Given the description of an element on the screen output the (x, y) to click on. 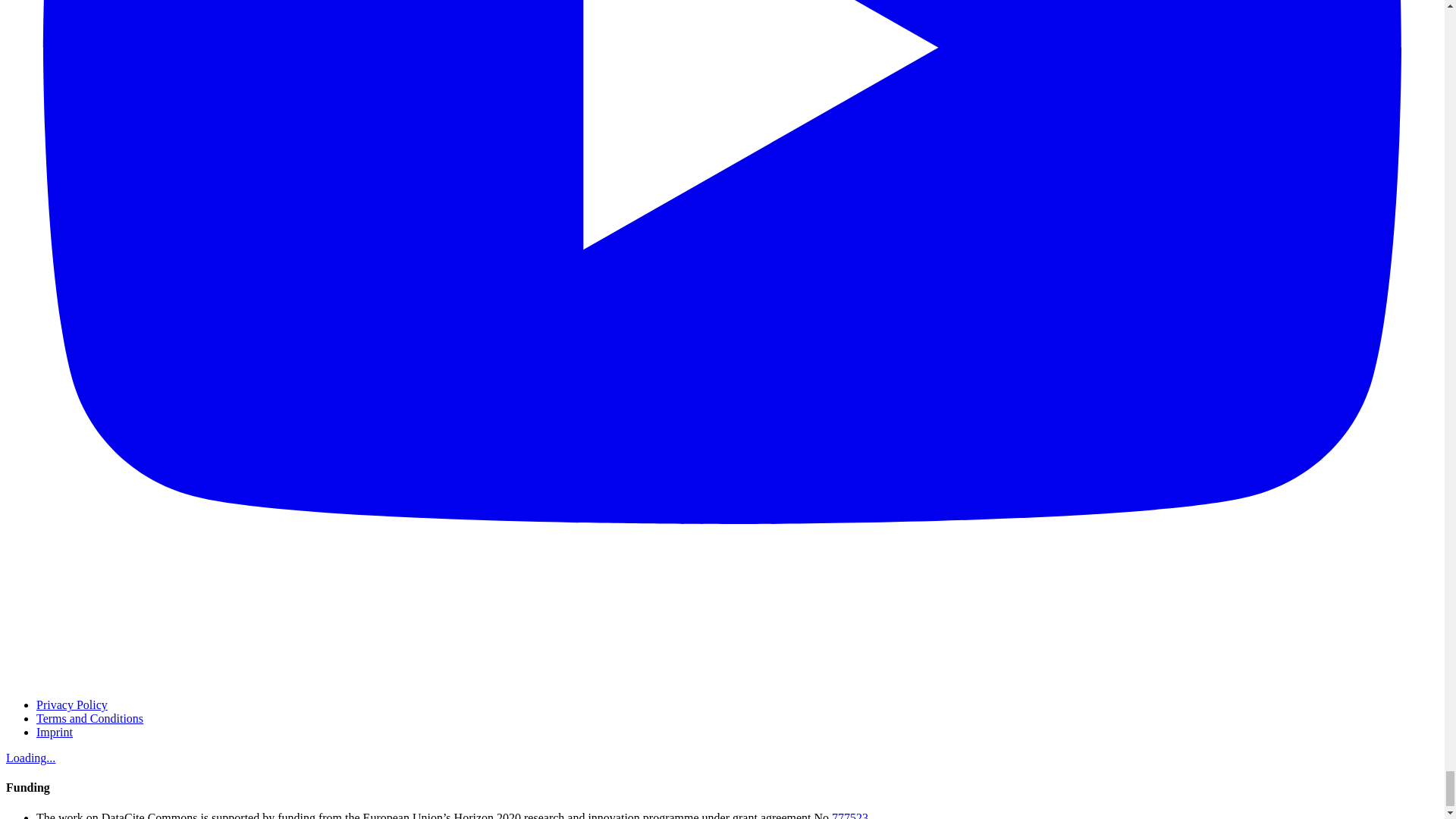
Loading... (30, 757)
Terms and Conditions (89, 717)
Imprint (54, 731)
Privacy Policy (71, 704)
